Given the description of an element on the screen output the (x, y) to click on. 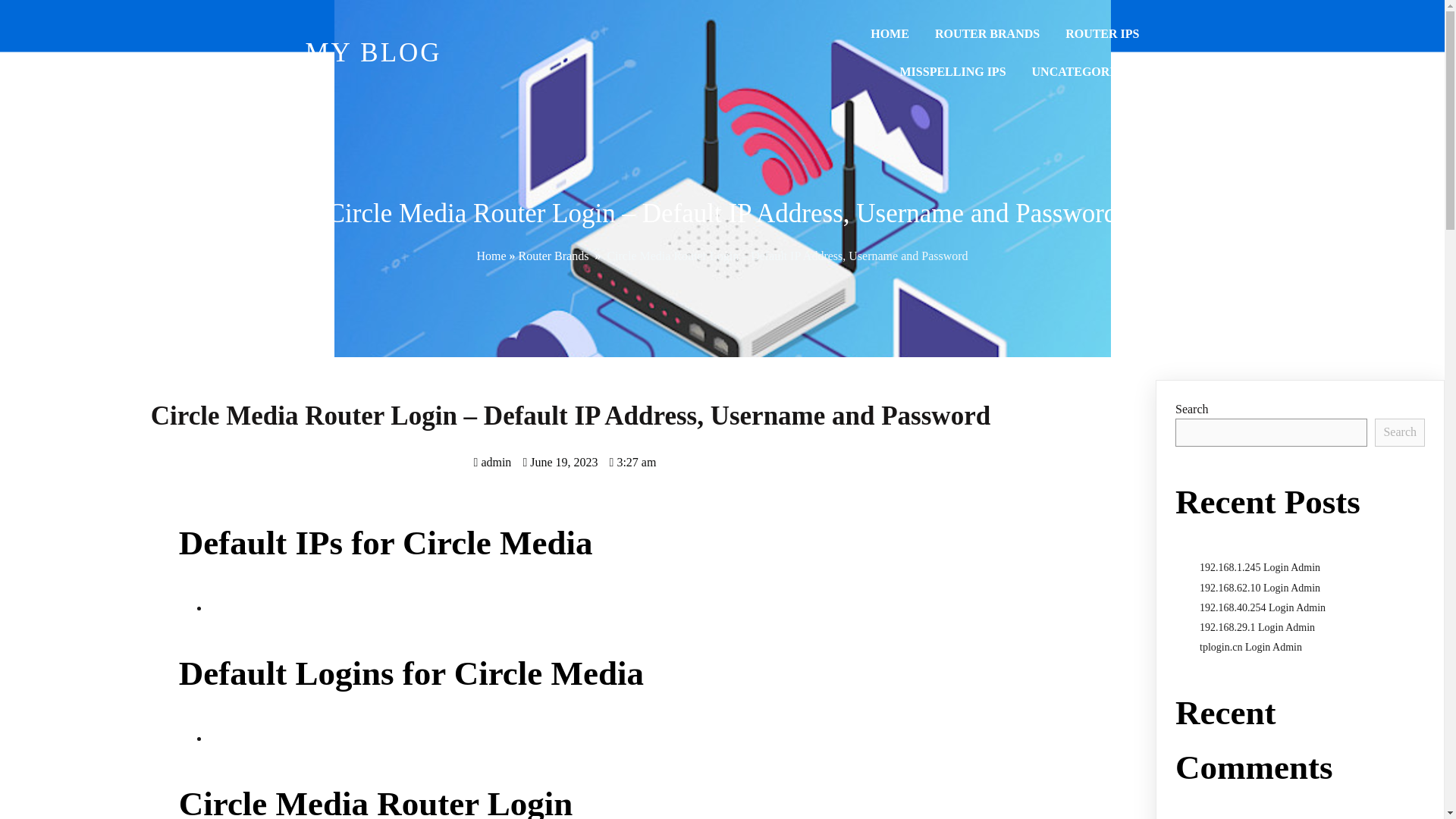
MISSPELLING IPS (952, 71)
Search (1399, 431)
Home (490, 255)
ROUTER IPS (1102, 34)
3:27 am (633, 461)
tplogin.cn Login Admin (1250, 646)
admin (493, 461)
Router Brands (553, 255)
June 19, 2023 (559, 461)
UNCATEGORIZED (1085, 71)
MY BLOG (504, 52)
192.168.40.254 Login Admin (1261, 607)
192.168.29.1 Login Admin (1256, 627)
ROUTER BRANDS (987, 34)
